Given the description of an element on the screen output the (x, y) to click on. 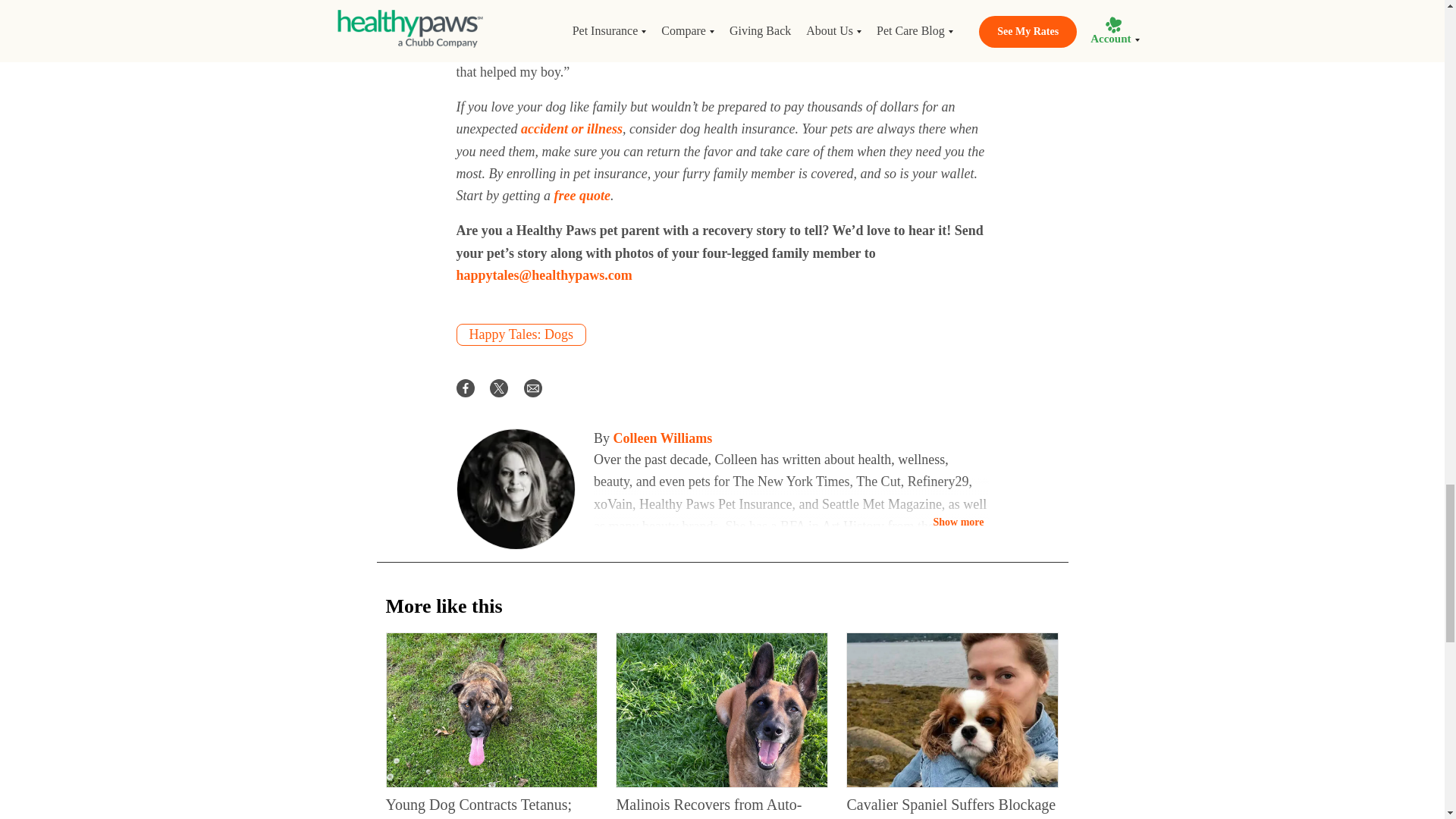
Young Dog Contracts Tetanus; Hospitalized for 16 Days (478, 807)
Share Post over Email (531, 386)
Cavalier Spaniel Suffers Blockage from an Acorn (952, 710)
Share Post on Twitter (498, 386)
Cavalier Spaniel Suffers Blockage from an Acorn (950, 807)
Young Dog Contracts Tetanus; Hospitalized for 16 Days (491, 710)
